Given the description of an element on the screen output the (x, y) to click on. 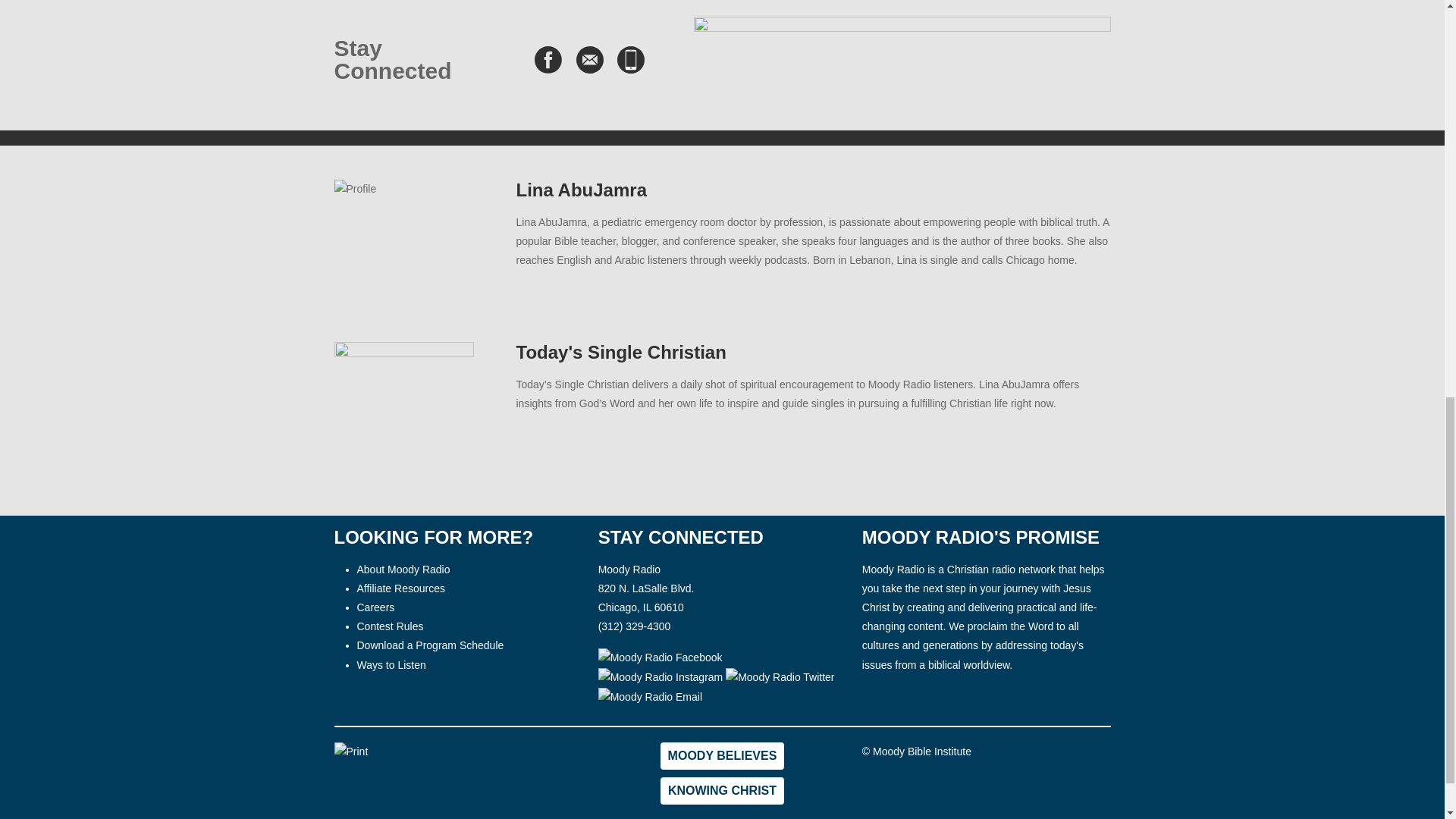
Today's Single Christian on Facebook (548, 59)
Moody Radio Instagram (662, 676)
Moody Radio Twitter (779, 677)
Moody Radio Twitter (779, 676)
Moody Radio App (631, 59)
Moody Radio Email (649, 696)
Moody Radio Instagram (660, 677)
Moody Radio Facebook (660, 657)
Moody Radio Facebook (660, 656)
